Given the description of an element on the screen output the (x, y) to click on. 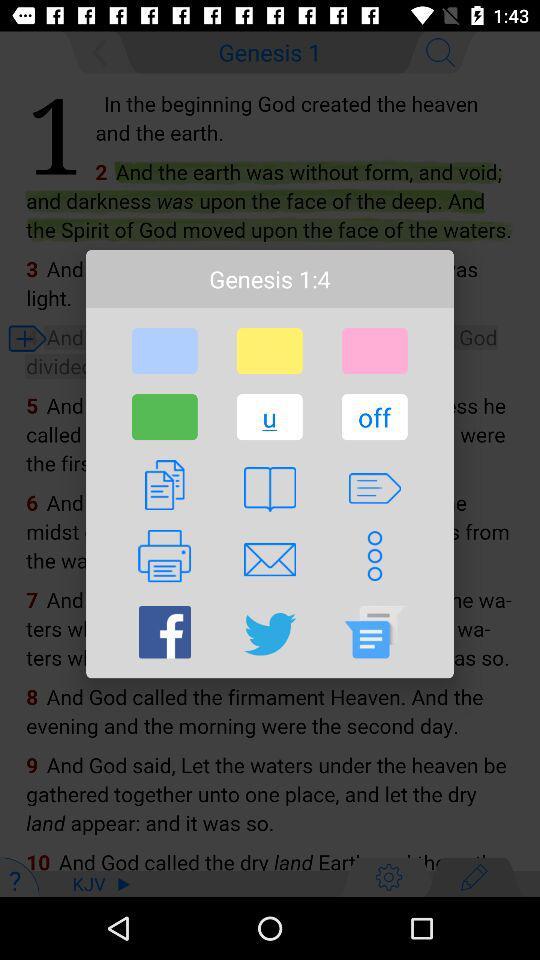
choose the u (269, 417)
